Given the description of an element on the screen output the (x, y) to click on. 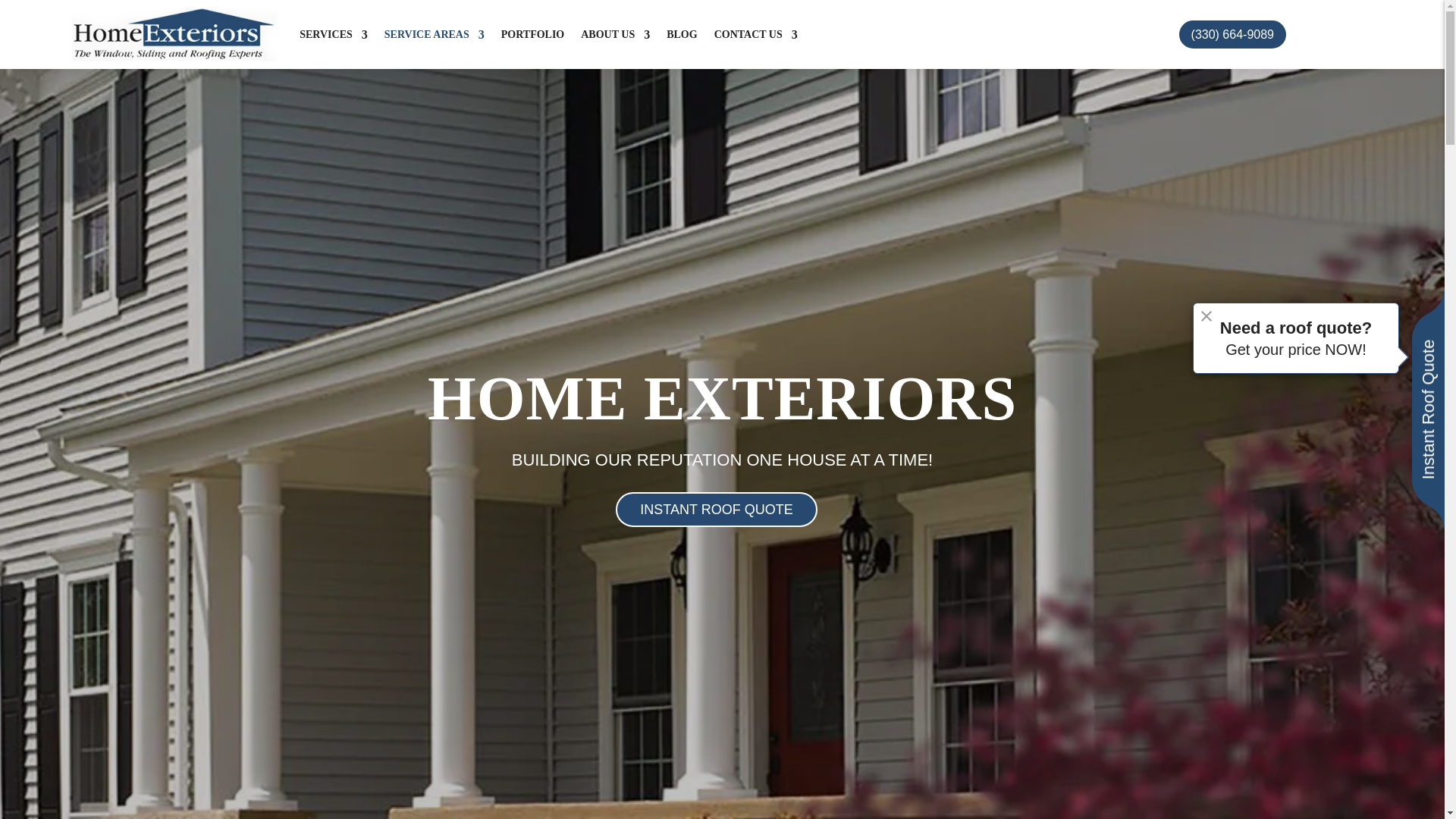
SERVICES (333, 34)
ABOUT US (614, 34)
SERVICE AREAS (434, 34)
PORTFOLIO (532, 34)
CONTACT US (755, 34)
